Given the description of an element on the screen output the (x, y) to click on. 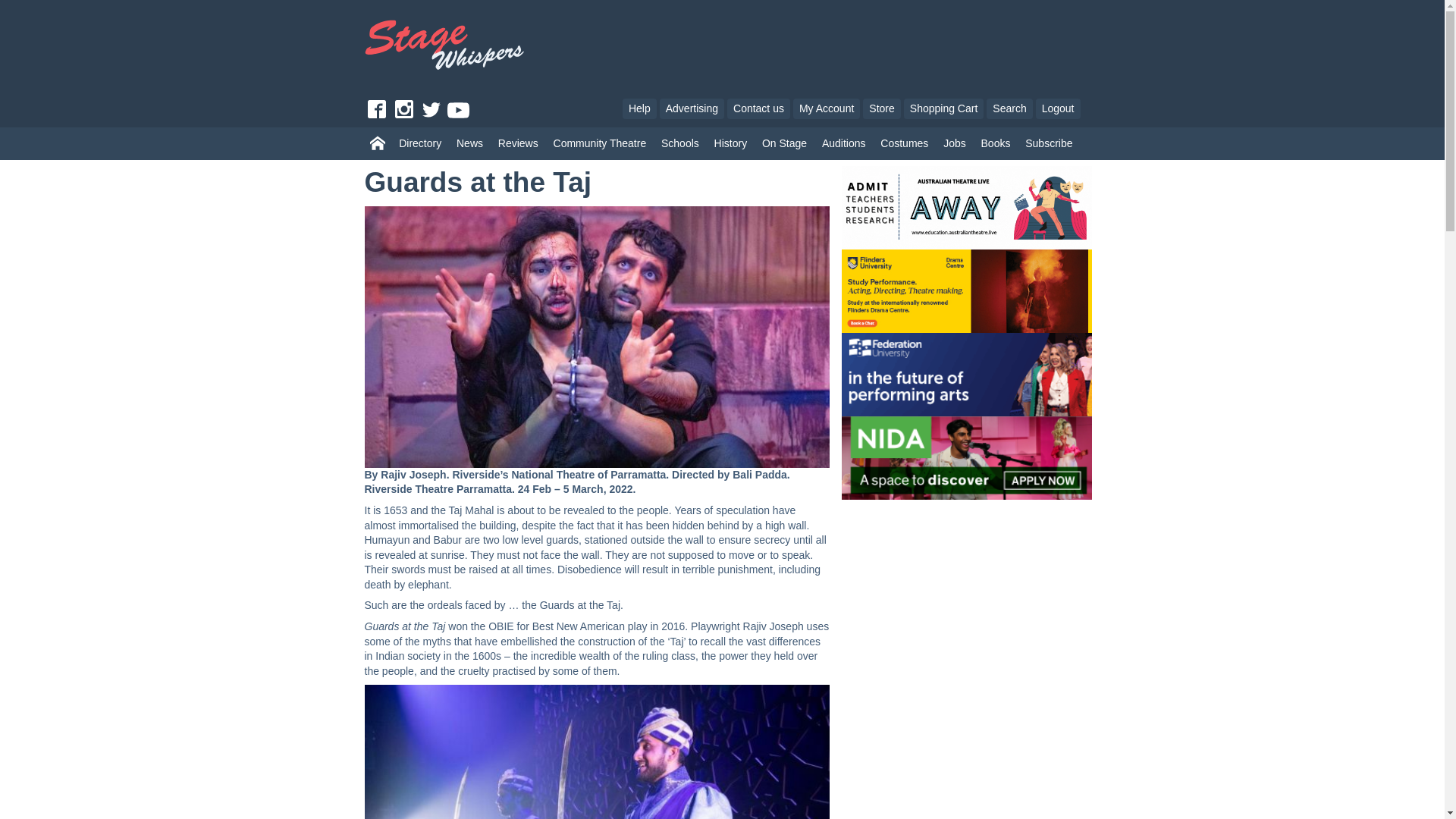
Community Theatre (599, 143)
Auditions (842, 143)
Advertising (691, 108)
Schools (679, 143)
History (730, 143)
My Account (826, 108)
Costumes (904, 143)
Shopping Cart (944, 108)
News (469, 143)
Books (995, 143)
Books (995, 143)
Subscribe (1048, 143)
Advertisement (855, 39)
Help (639, 108)
Search (1009, 108)
